Given the description of an element on the screen output the (x, y) to click on. 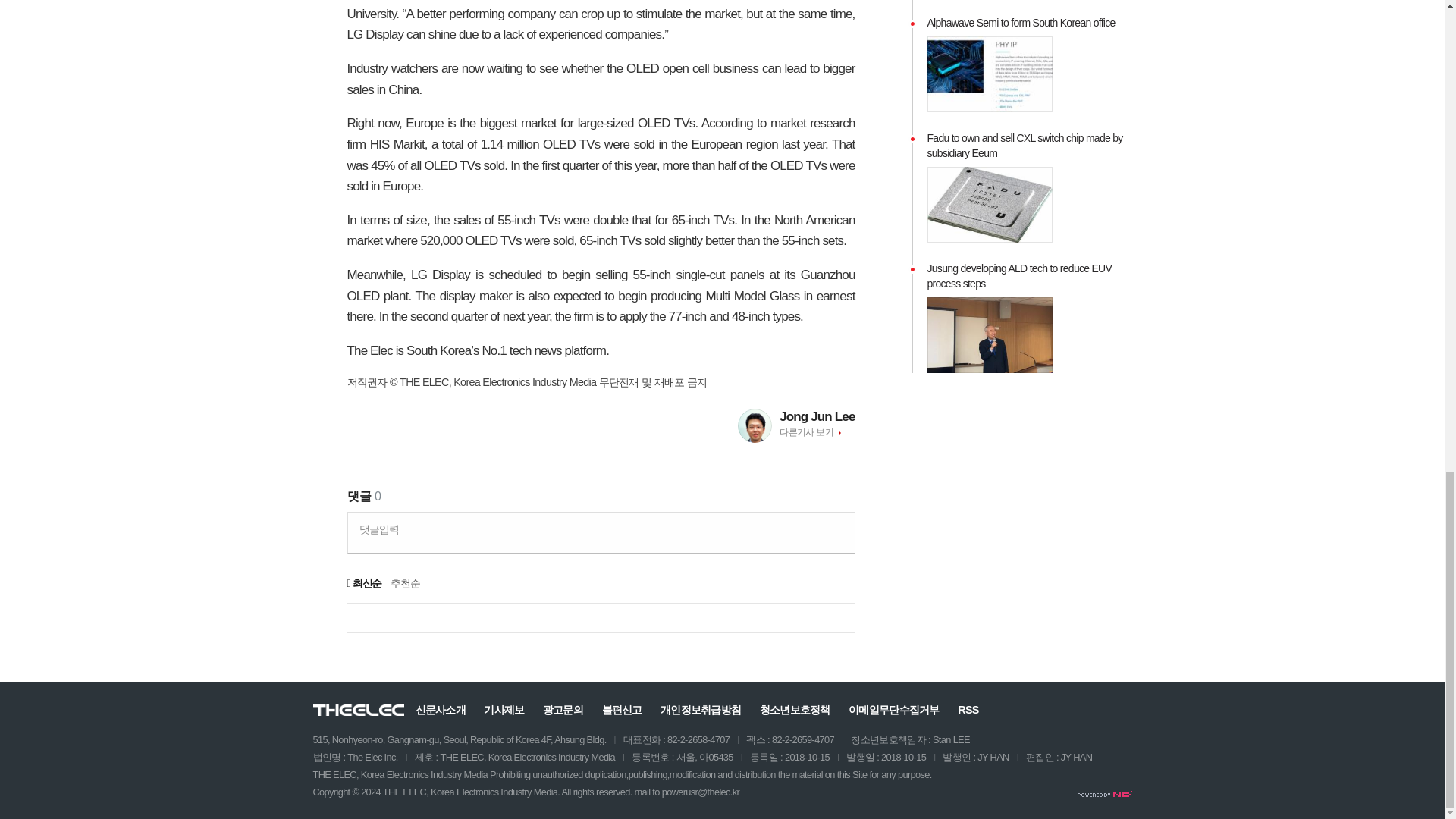
Jong Jun Lee (816, 416)
